Given the description of an element on the screen output the (x, y) to click on. 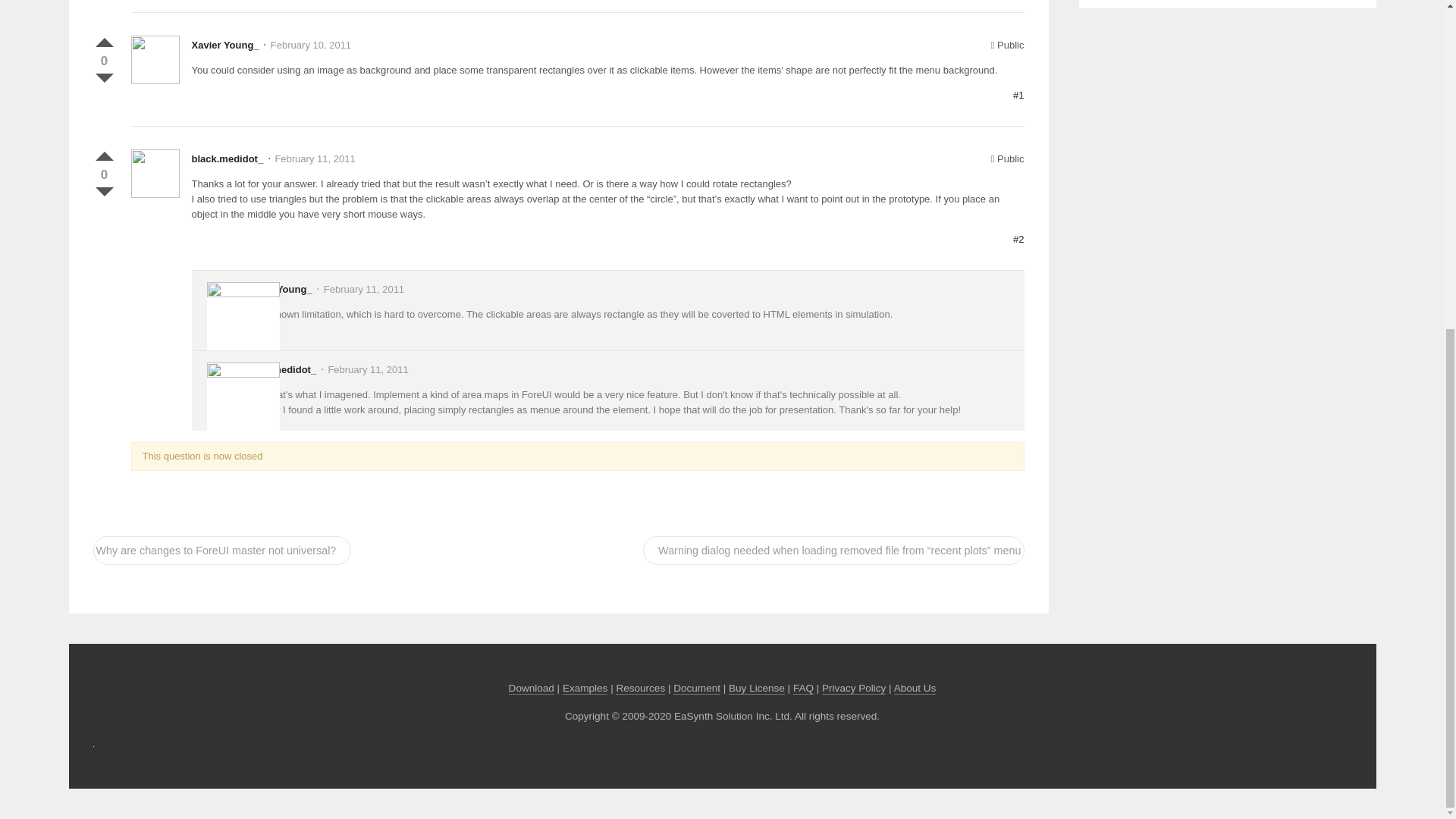
VOTE UP (104, 38)
VOTE DOWN (104, 188)
February 11, 2011 (315, 158)
VOTE DOWN (104, 74)
Vote Down (104, 74)
Vote Up (104, 38)
VOTE UP (104, 152)
February 10, 2011 (310, 44)
